Given the description of an element on the screen output the (x, y) to click on. 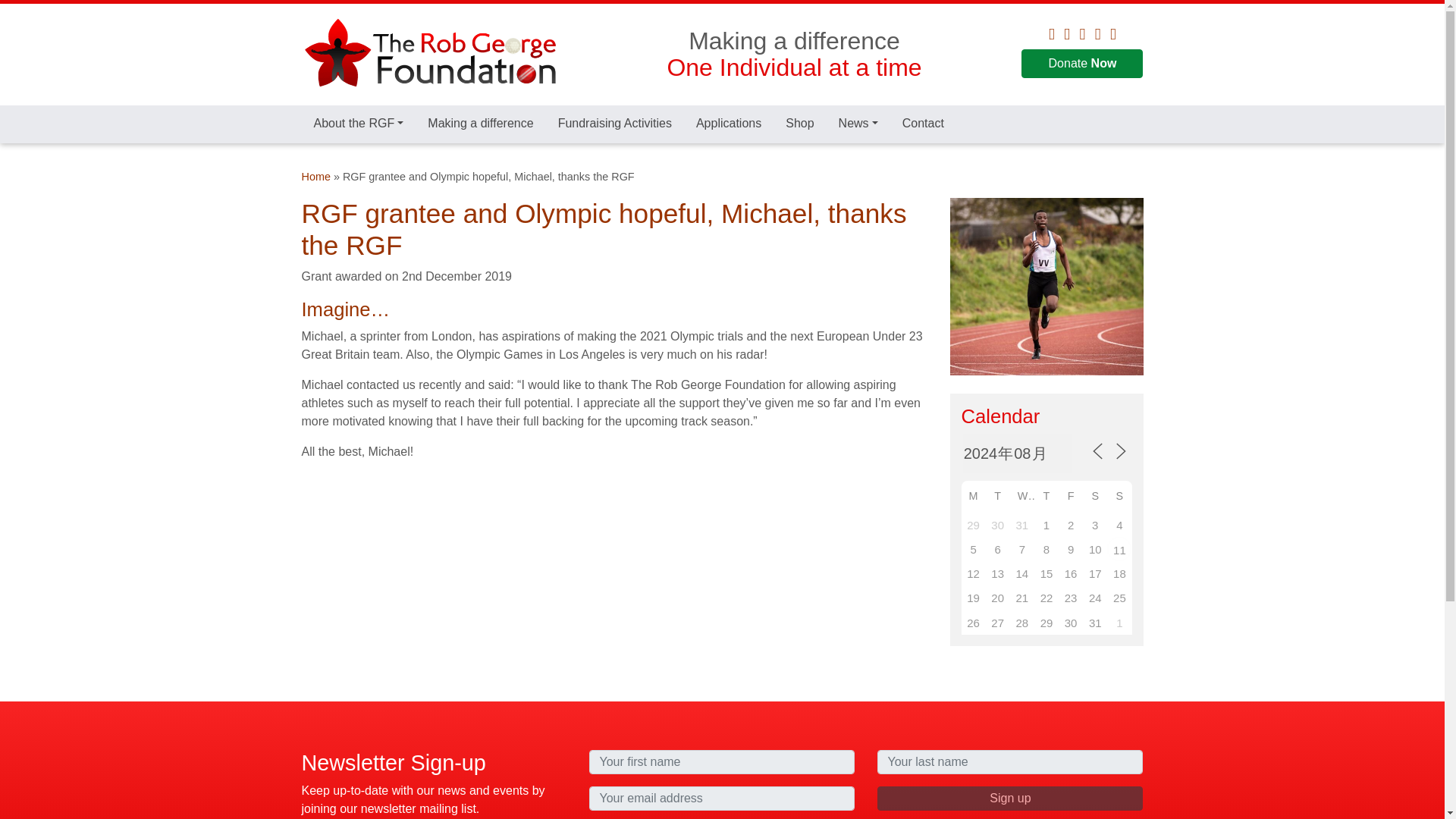
Fundraising Activities (615, 123)
Applications (728, 123)
Shop (799, 123)
News (858, 123)
About the RGF (358, 123)
Sign up (1009, 798)
Shop (799, 123)
Fundraising Activities (615, 123)
About the RGF (358, 123)
Contact (922, 123)
11 (1118, 549)
Contact (922, 123)
Sign up (1009, 798)
Home (315, 176)
Donate Now! (1082, 63)
